Given the description of an element on the screen output the (x, y) to click on. 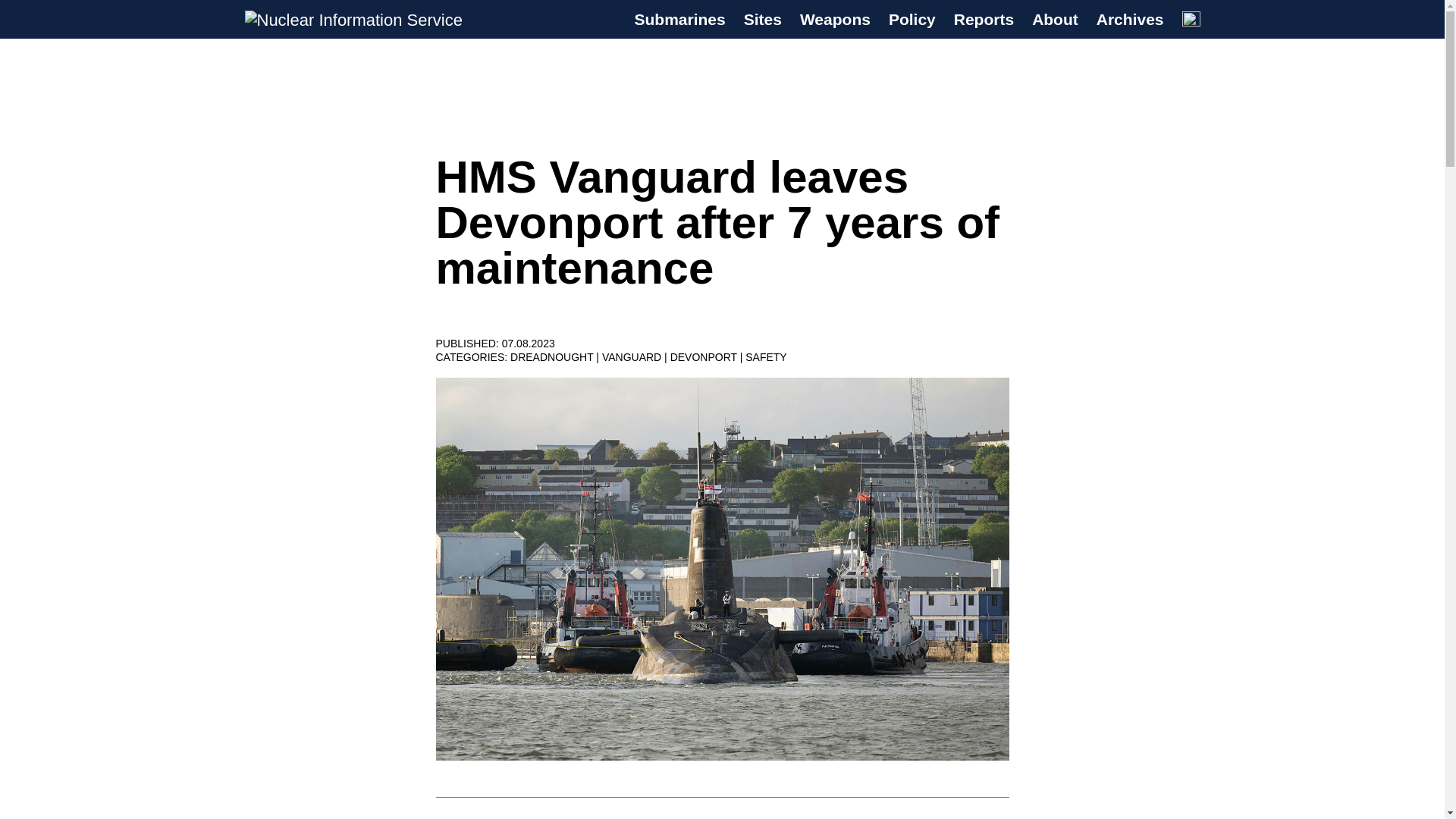
Weapons (834, 19)
About (1055, 19)
Sites (762, 19)
Nuclear Information Service (346, 38)
Submarines (679, 19)
Reports (983, 19)
Policy (912, 19)
